Given the description of an element on the screen output the (x, y) to click on. 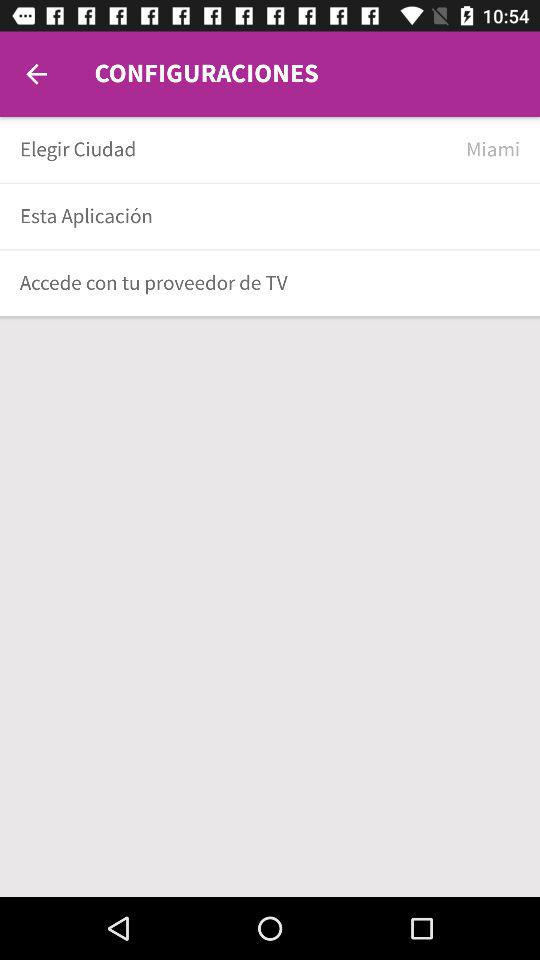
tap the elegir ciudad icon (235, 149)
